Given the description of an element on the screen output the (x, y) to click on. 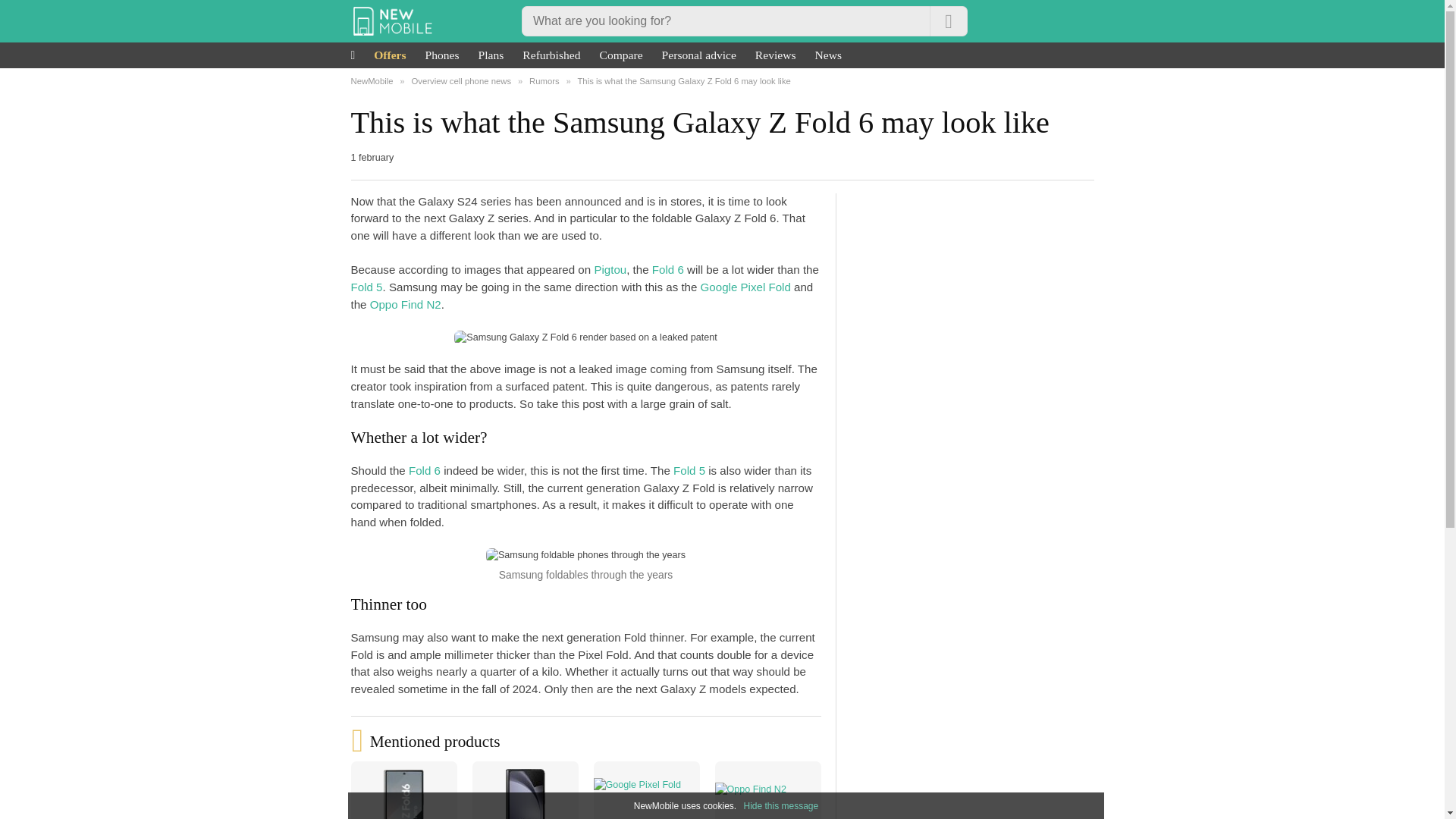
Fold 5 (688, 470)
Samsung foldable phones through the years (585, 554)
Plans (490, 54)
Fold 6 (668, 269)
Offers (390, 54)
Overview cell phone news (460, 80)
Reviews (775, 54)
Rumors (544, 80)
Phones (442, 54)
Google Pixel Fold (745, 286)
